Given the description of an element on the screen output the (x, y) to click on. 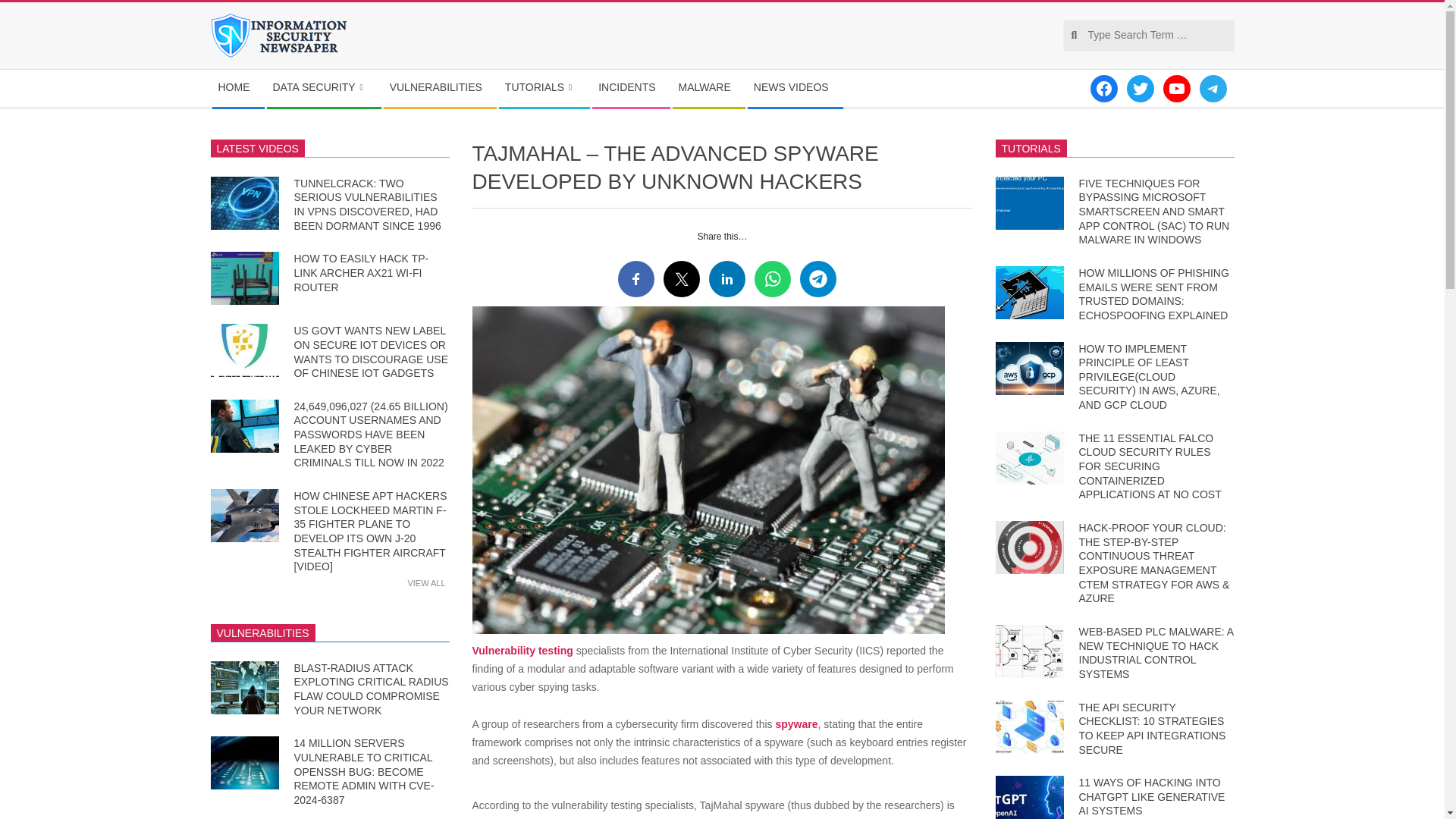
VULNERABILITIES (439, 88)
TUTORIALS (544, 88)
DATA SECURITY (322, 88)
HOME (237, 88)
